Given the description of an element on the screen output the (x, y) to click on. 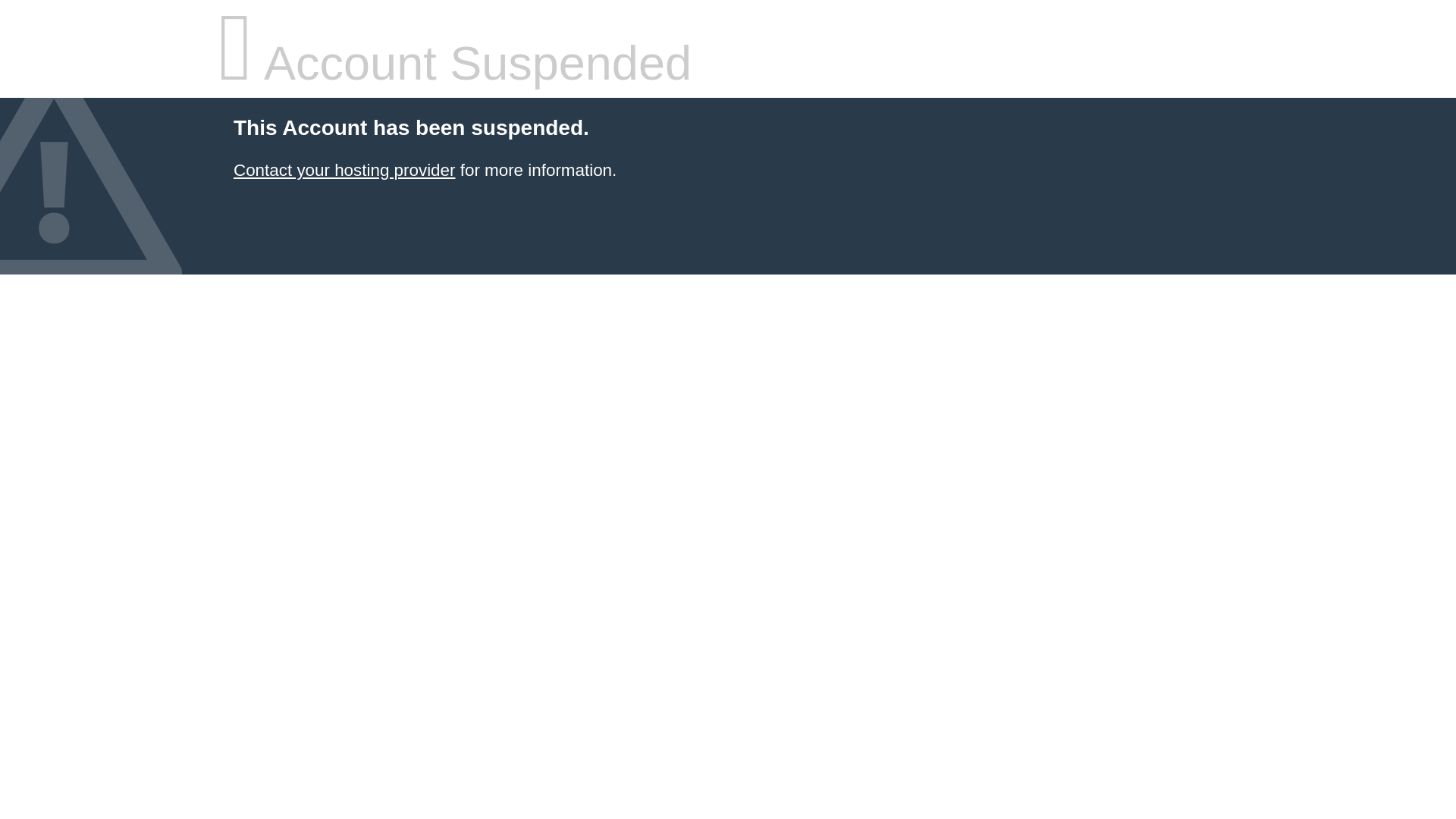
Contact your hosting provider (343, 169)
